Given the description of an element on the screen output the (x, y) to click on. 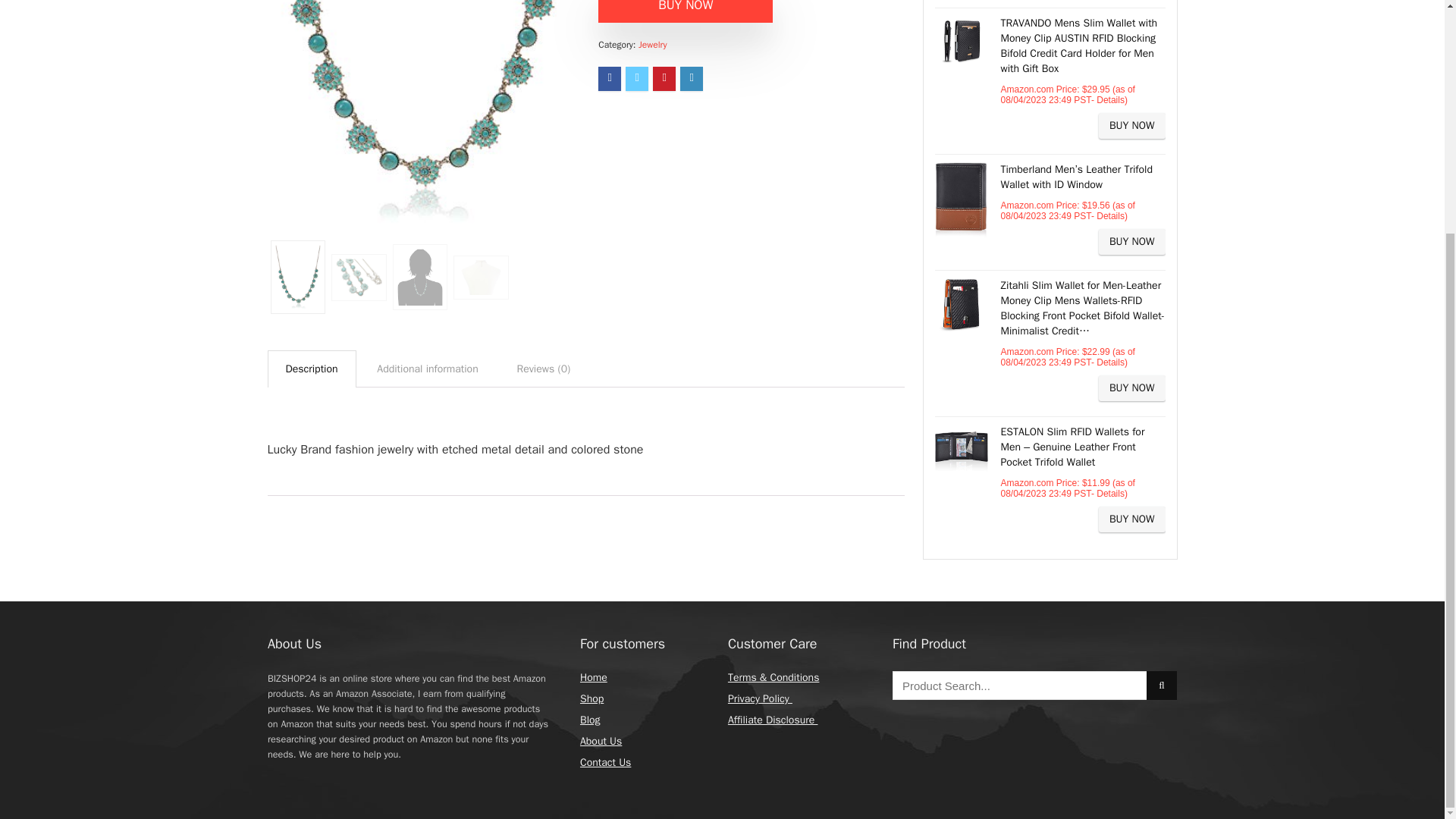
Lucky-Brand-Turquoise-Collar-Necklace (419, 113)
